Given the description of an element on the screen output the (x, y) to click on. 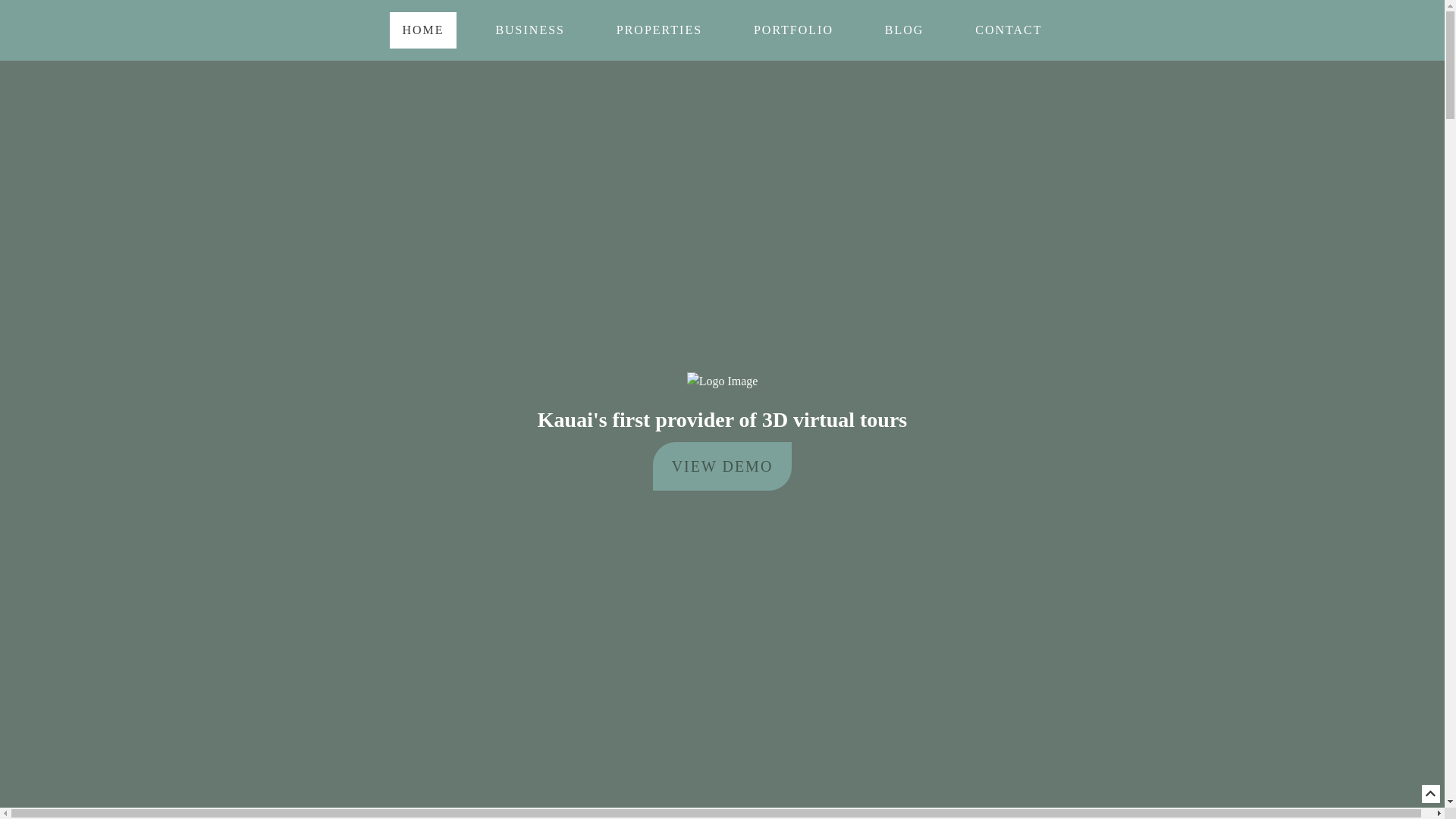
BLOG Element type: text (904, 30)
PORTFOLIO Element type: text (793, 30)
HOME Element type: text (422, 30)
PROPERTIES Element type: text (659, 30)
BUSINESS Element type: text (530, 30)
CONTACT Element type: text (1008, 30)
VIEW DEMO Element type: text (722, 466)
